Given the description of an element on the screen output the (x, y) to click on. 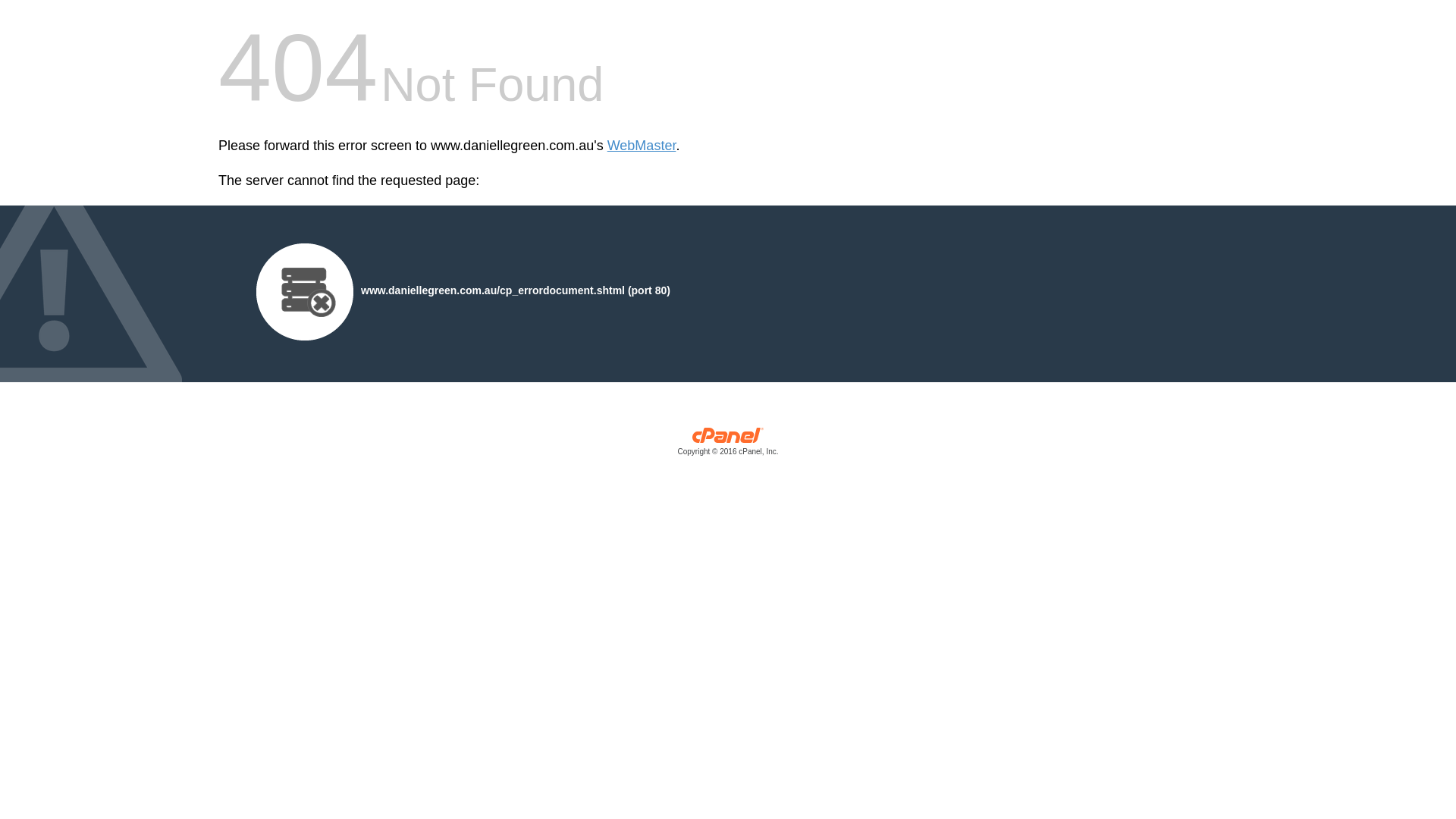
WebMaster Element type: text (641, 145)
